Given the description of an element on the screen output the (x, y) to click on. 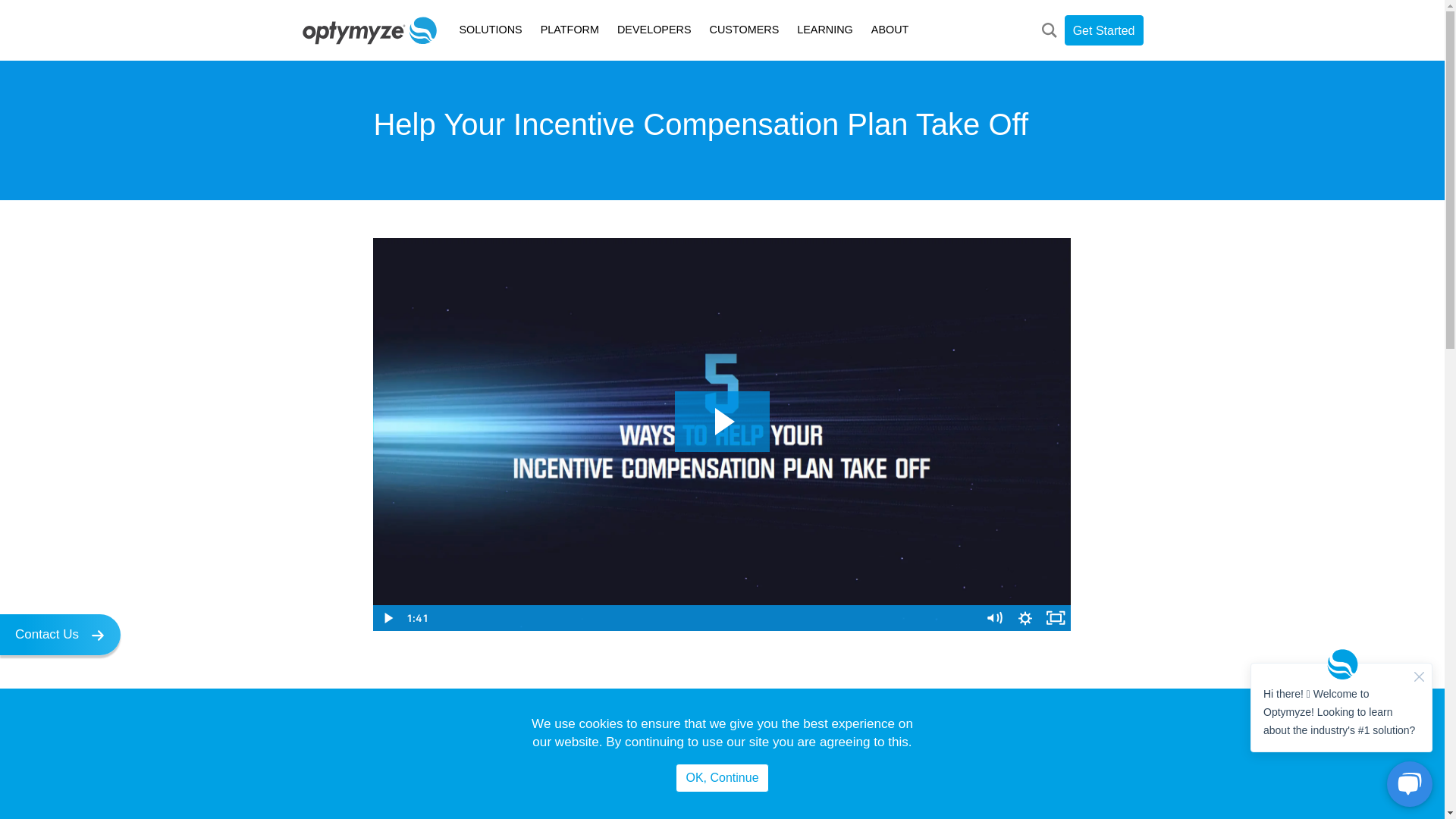
Fullscreen (1055, 617)
PLATFORM (569, 30)
Play Video (387, 617)
Mute (994, 617)
Open search (1051, 29)
DEVELOPERS (654, 30)
SOLUTIONS (490, 30)
Show settings menu (1025, 617)
